Given the description of an element on the screen output the (x, y) to click on. 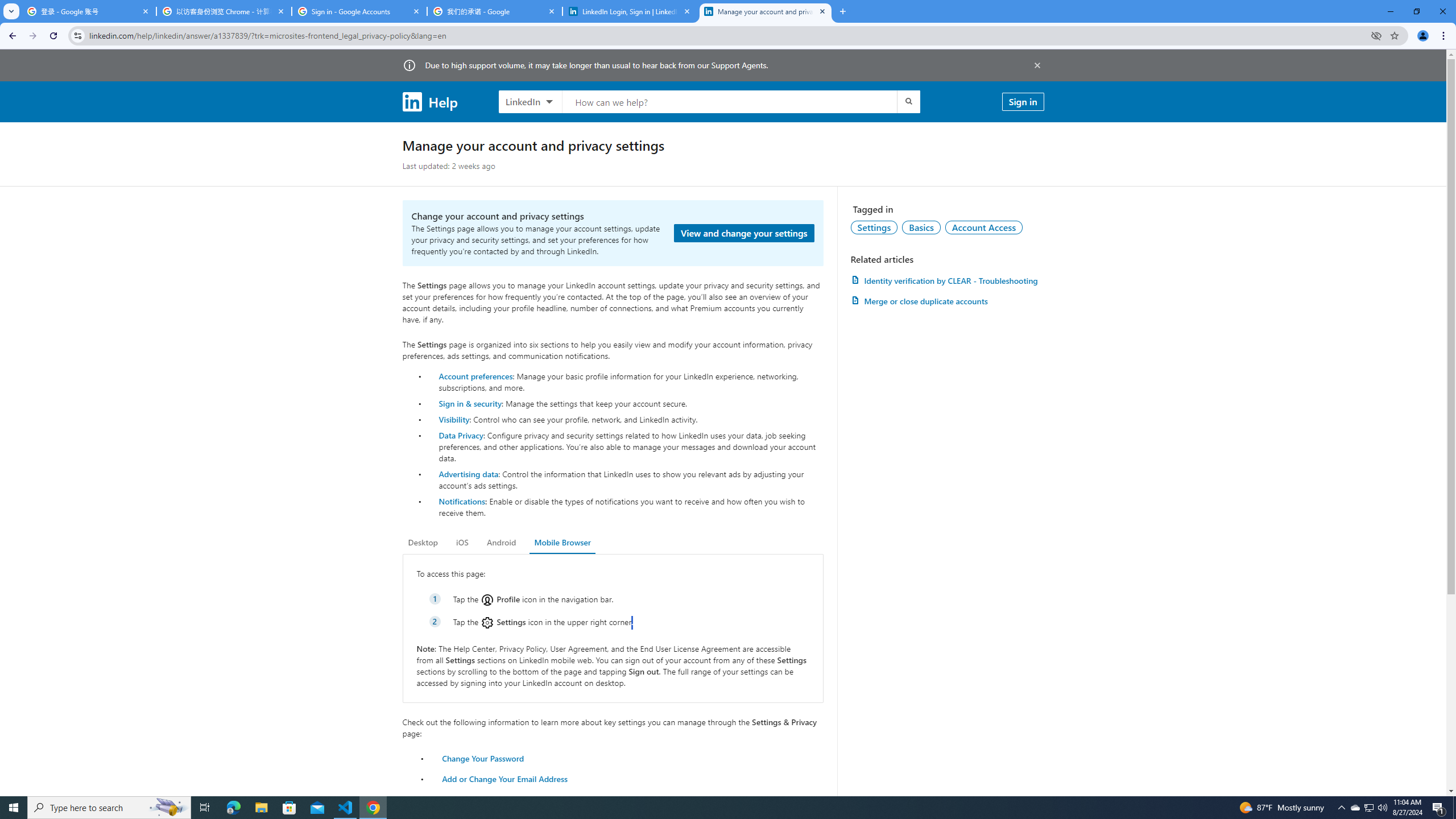
Sign in - Google Accounts (359, 11)
Add and Remove Mobile Phone Numbers (517, 799)
AutomationID: article-link-a1337200 (946, 300)
